Given the description of an element on the screen output the (x, y) to click on. 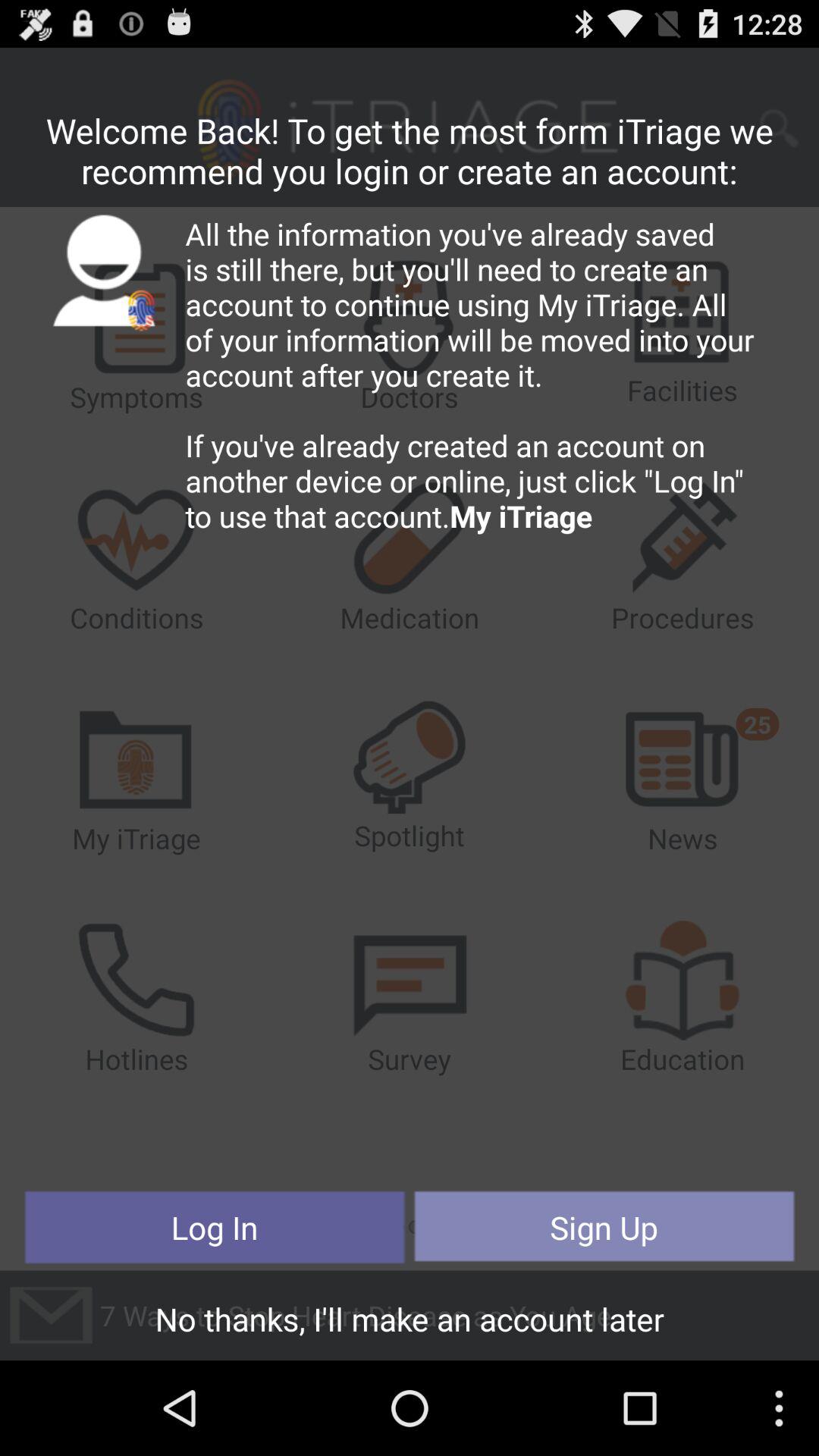
open icon above no thanks i item (214, 1227)
